Given the description of an element on the screen output the (x, y) to click on. 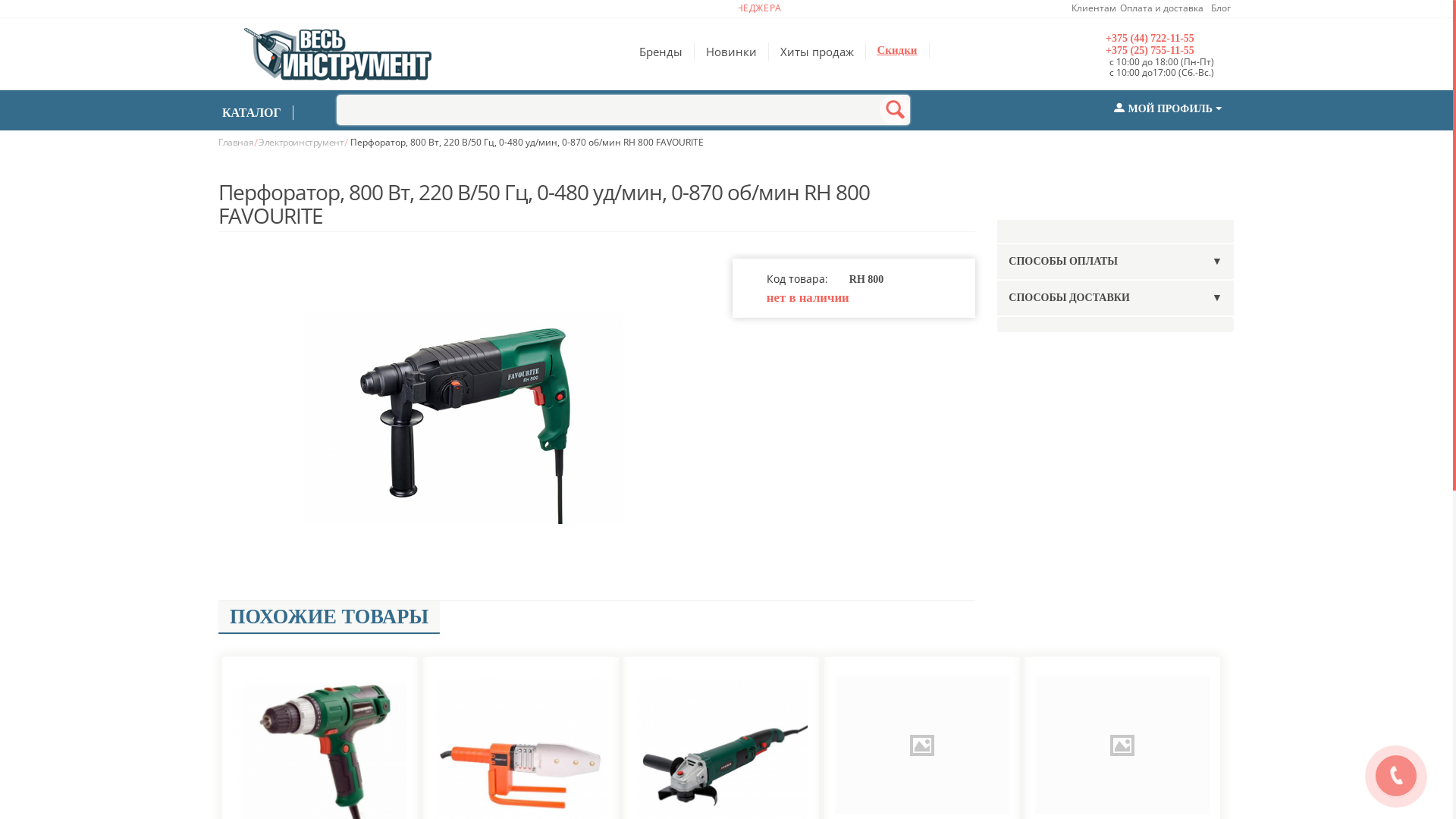
+375 (44) 722-11-55 Element type: text (1169, 38)
+375 (25) 755-11-55 Element type: text (1169, 50)
